Given the description of an element on the screen output the (x, y) to click on. 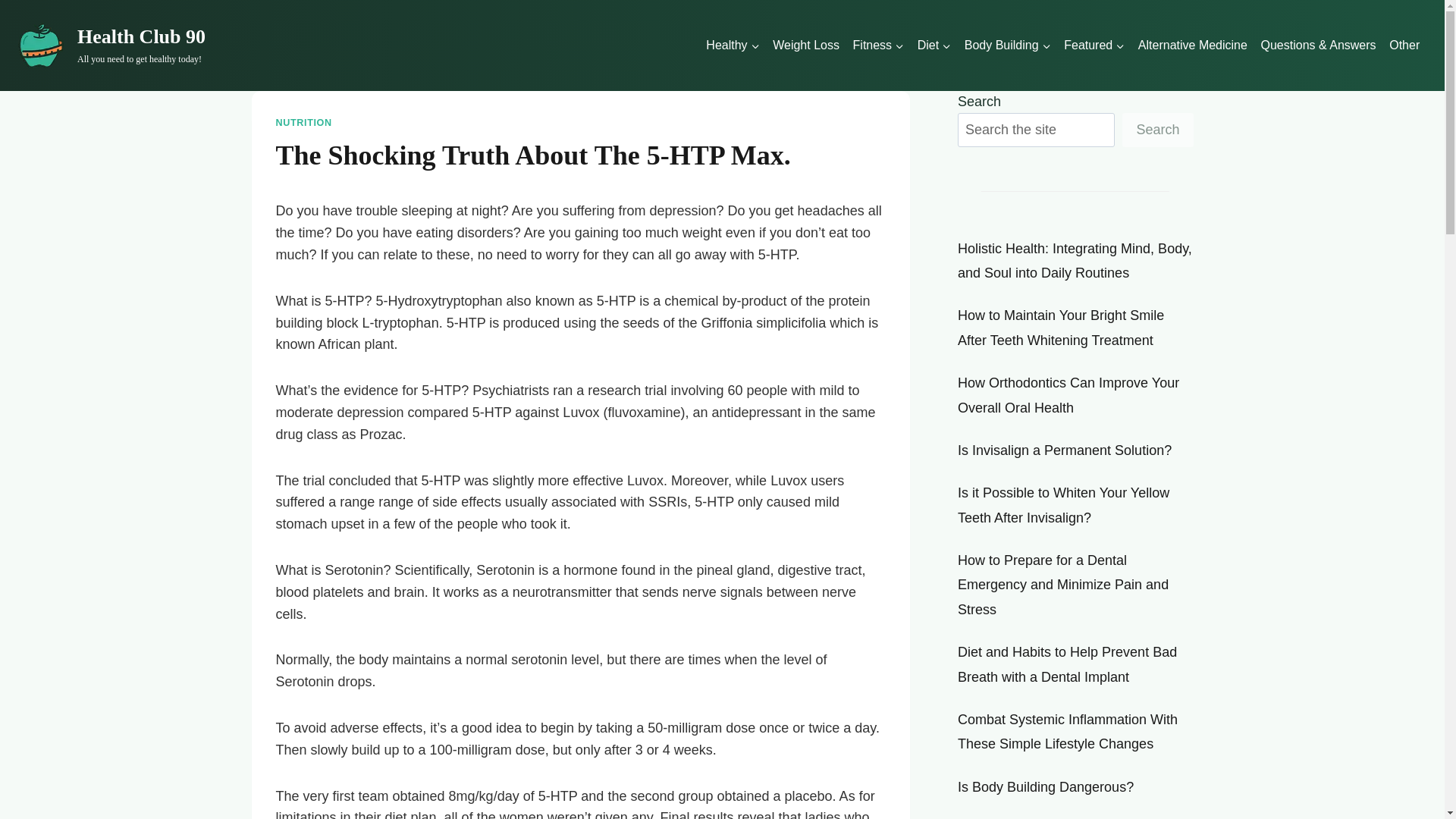
Body Building (1007, 45)
Weight Loss (805, 45)
Fitness (878, 45)
Alternative Medicine (1192, 45)
Featured (111, 44)
Diet (1094, 45)
Healthy (934, 45)
Other (733, 45)
NUTRITION (1403, 45)
